Given the description of an element on the screen output the (x, y) to click on. 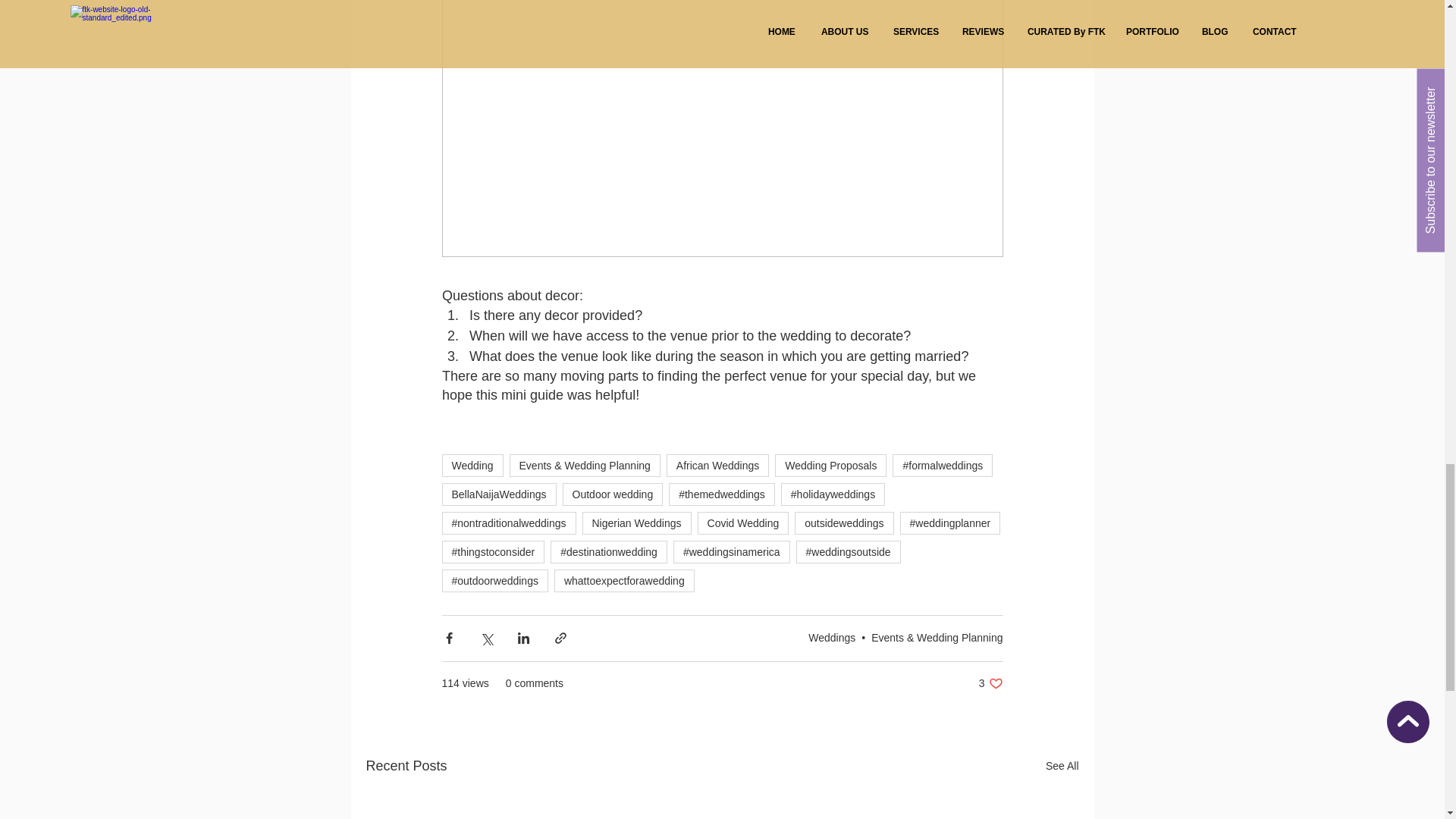
Covid Wedding (743, 522)
Wedding (471, 465)
African Weddings (717, 465)
whattoexpectforawedding (624, 580)
BellaNaijaWeddings (498, 494)
Outdoor wedding (612, 494)
Nigerian Weddings (636, 522)
Wedding Proposals (830, 465)
outsideweddings (843, 522)
